Given the description of an element on the screen output the (x, y) to click on. 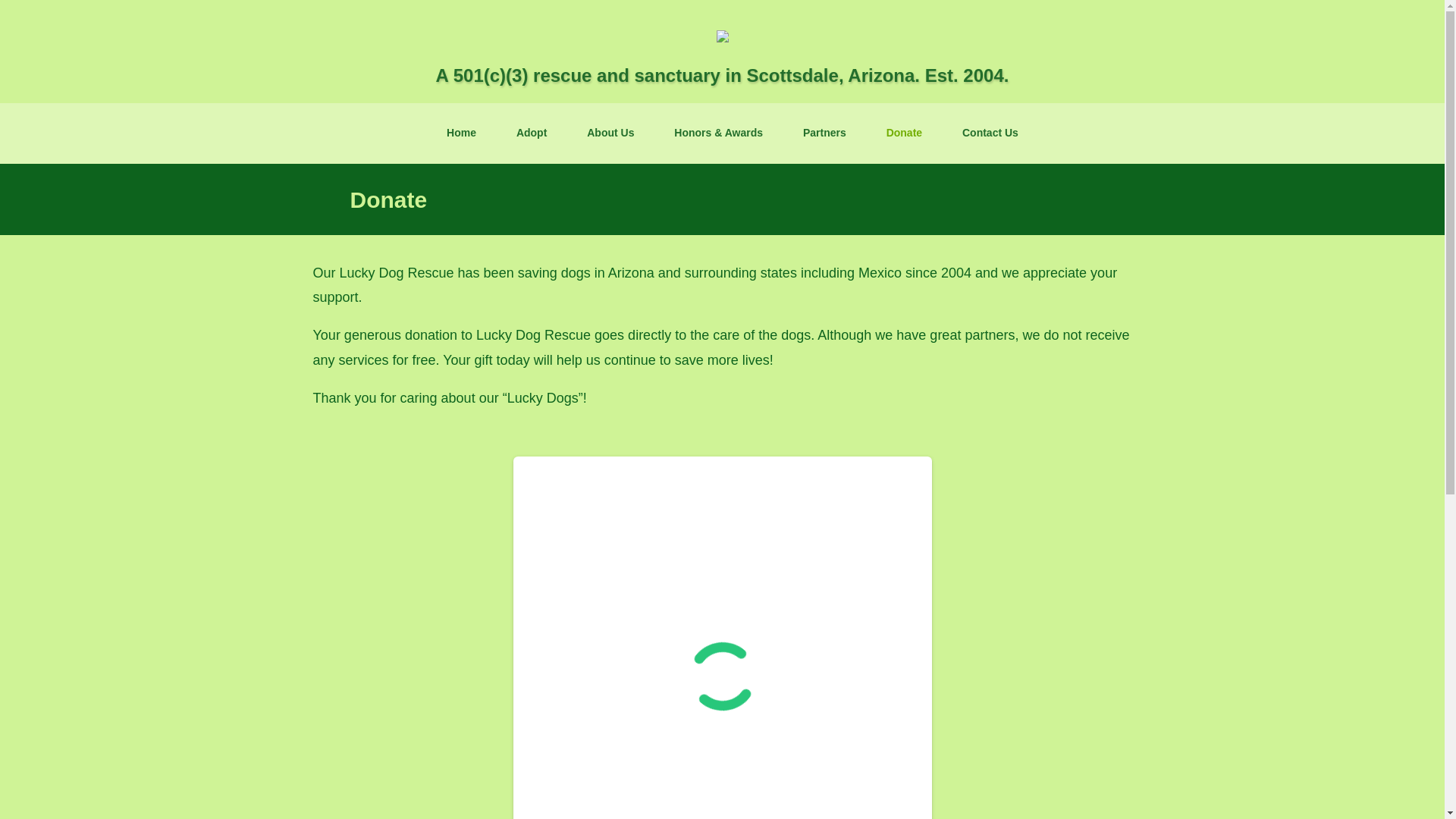
Home (451, 133)
Partners (814, 133)
Contact Us (979, 133)
About Us (599, 133)
Adopt (521, 133)
Donate (893, 133)
